Given the description of an element on the screen output the (x, y) to click on. 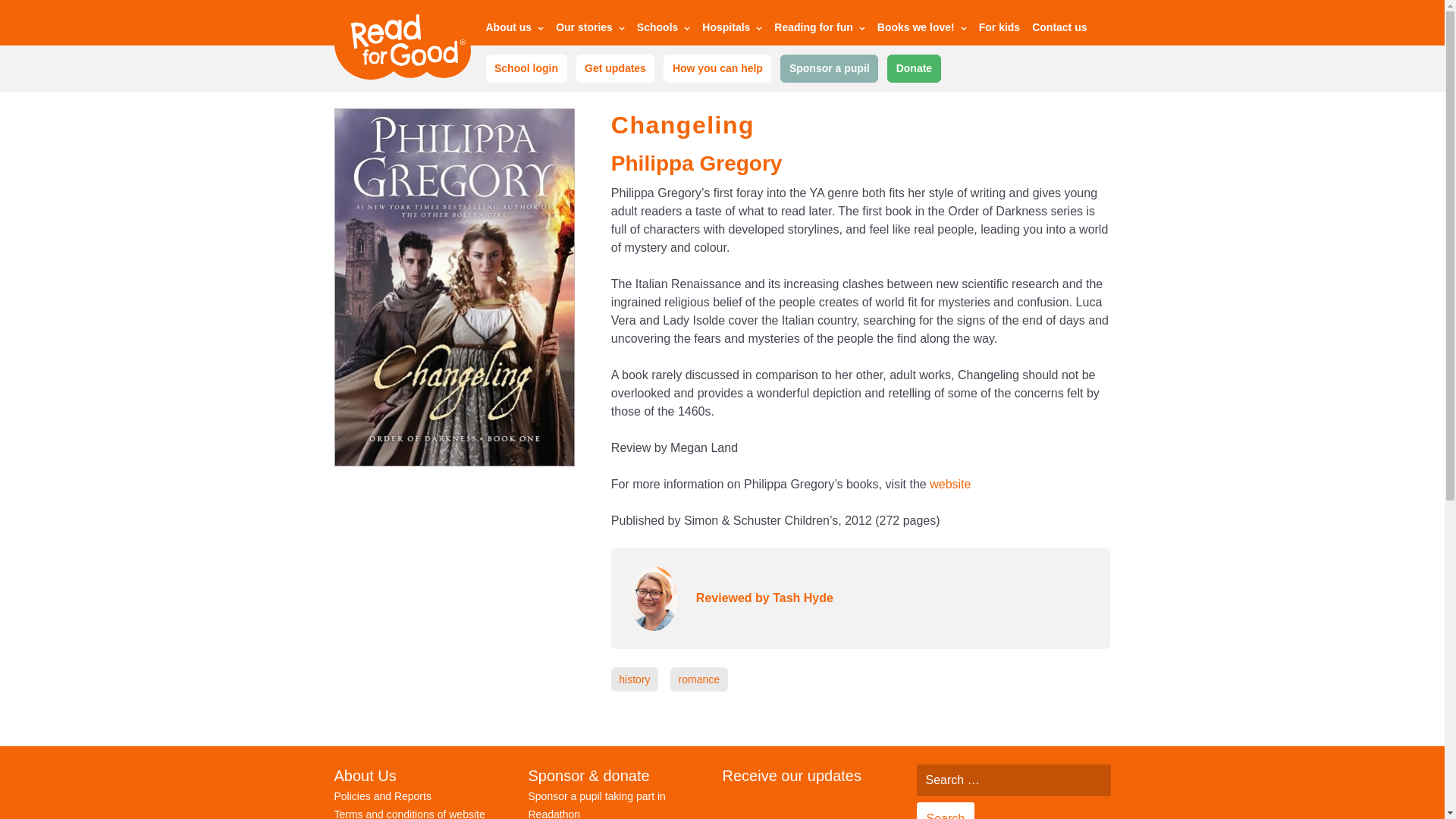
Reading for fun (819, 29)
Our stories (590, 29)
About us (513, 29)
Hospitals (731, 29)
Schools (663, 29)
Search (944, 810)
Books we love! (921, 29)
Search (944, 810)
